Given the description of an element on the screen output the (x, y) to click on. 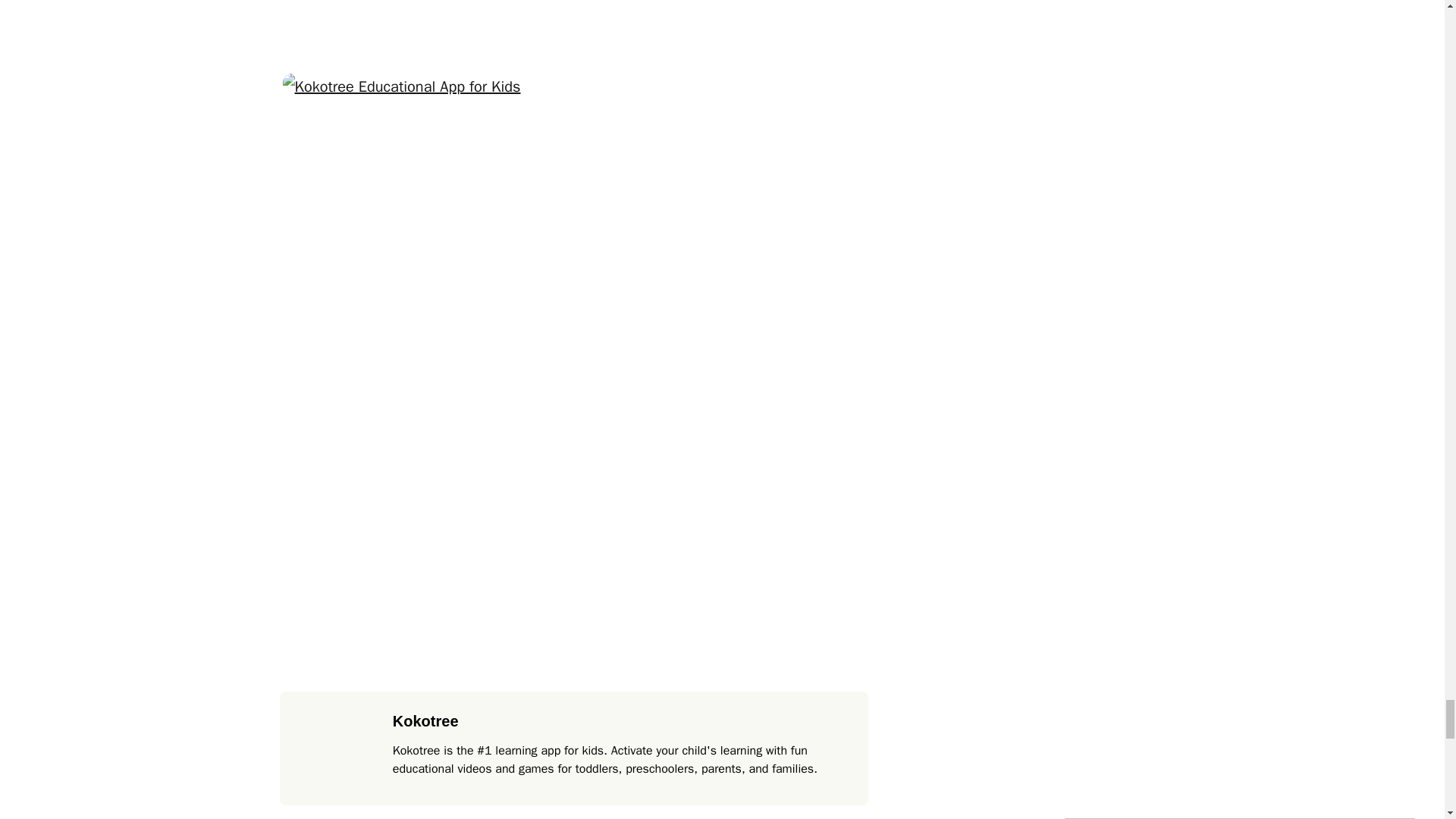
Free Printable Coloring Pages for Preschoolers and Toddlers (573, 21)
